Given the description of an element on the screen output the (x, y) to click on. 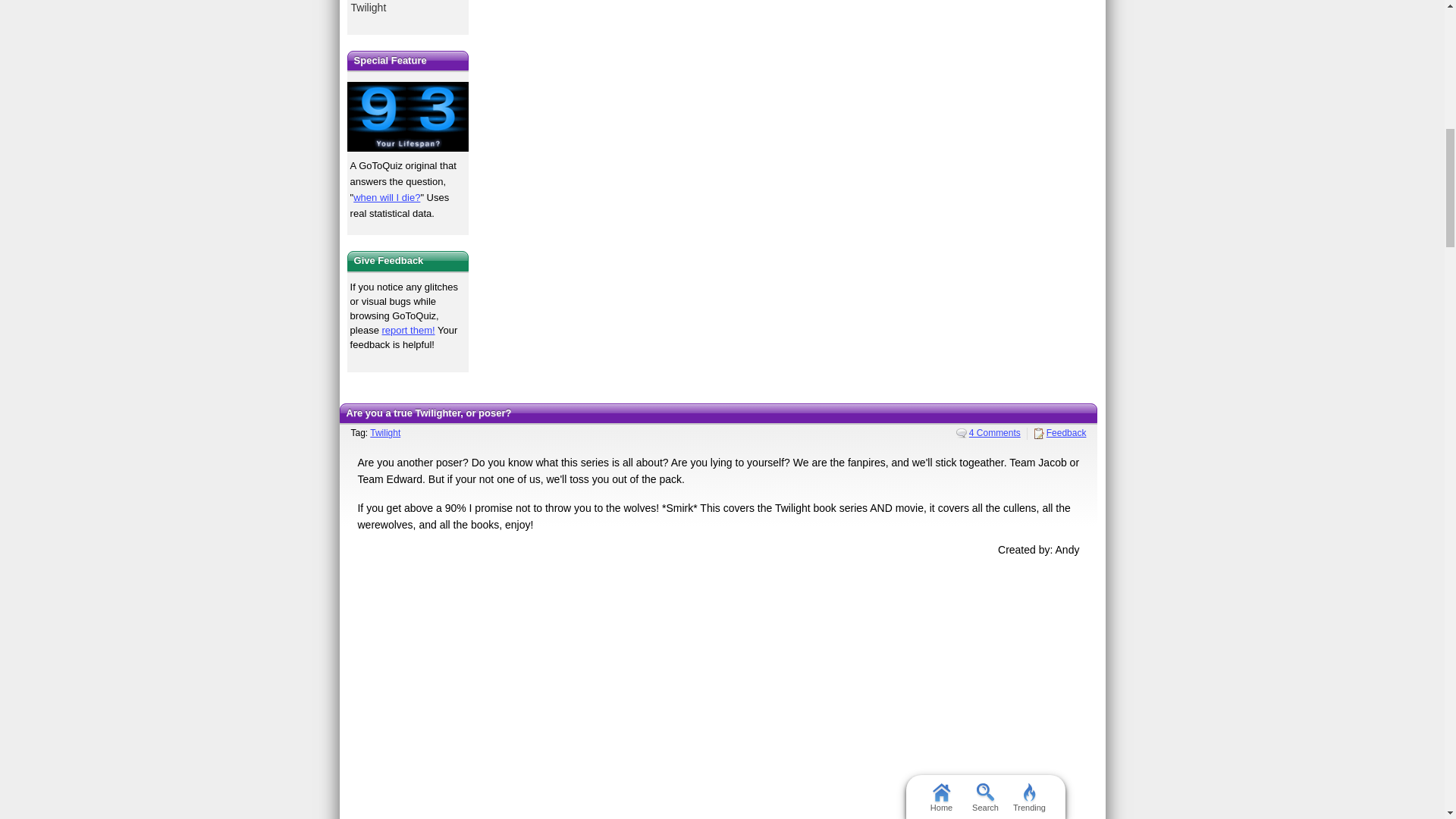
report them! (408, 329)
Advertisement (718, 686)
Twilight (407, 9)
Twilight (384, 432)
when will I die? (386, 197)
Feedback (1059, 432)
Try our lifespan calculator (407, 115)
4 Comments (988, 432)
